Given the description of an element on the screen output the (x, y) to click on. 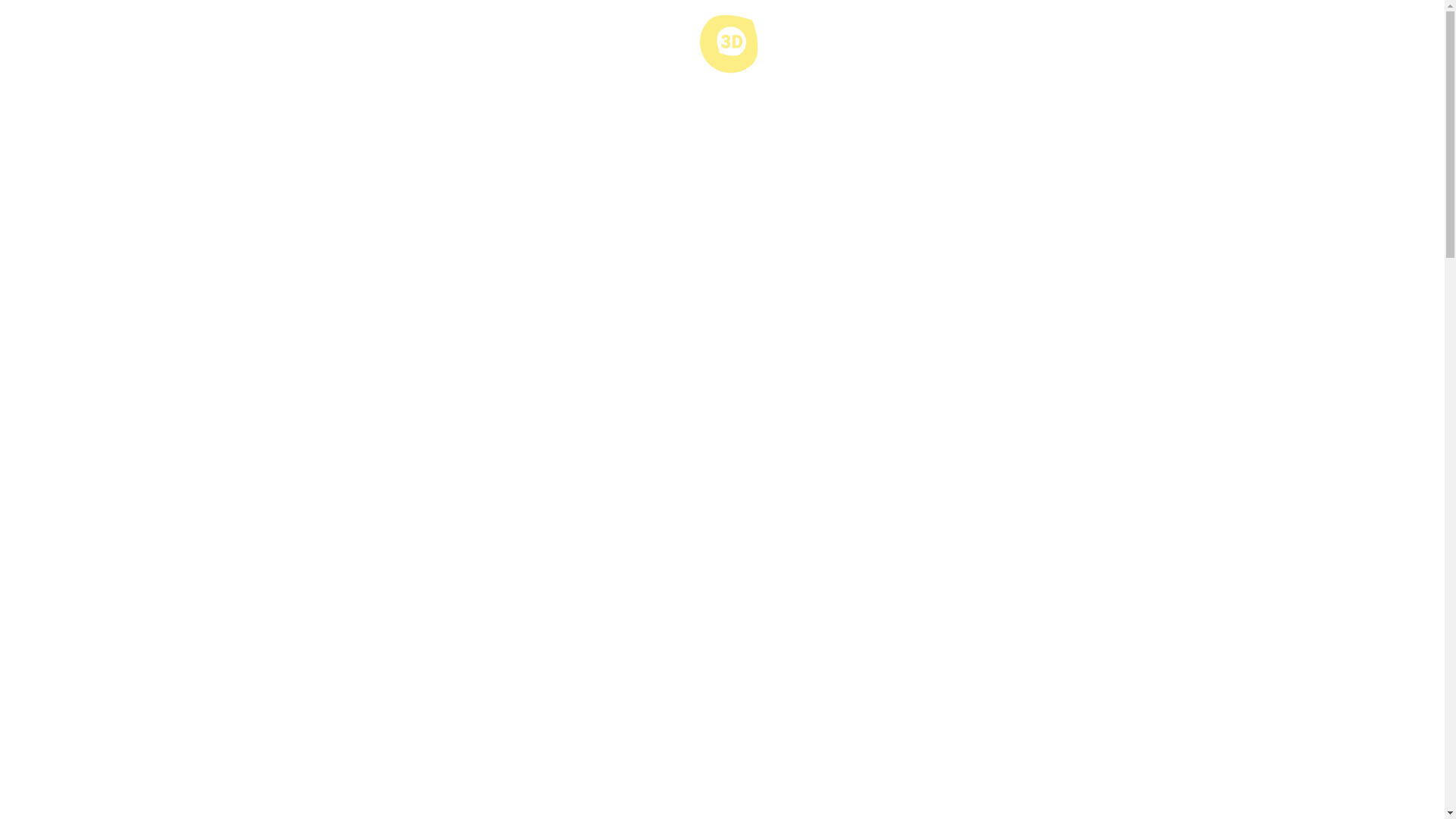
Matterport Element type: text (92, 166)
Matterport Element type: text (92, 449)
+375296677888 Element type: text (46, 382)
